Given the description of an element on the screen output the (x, y) to click on. 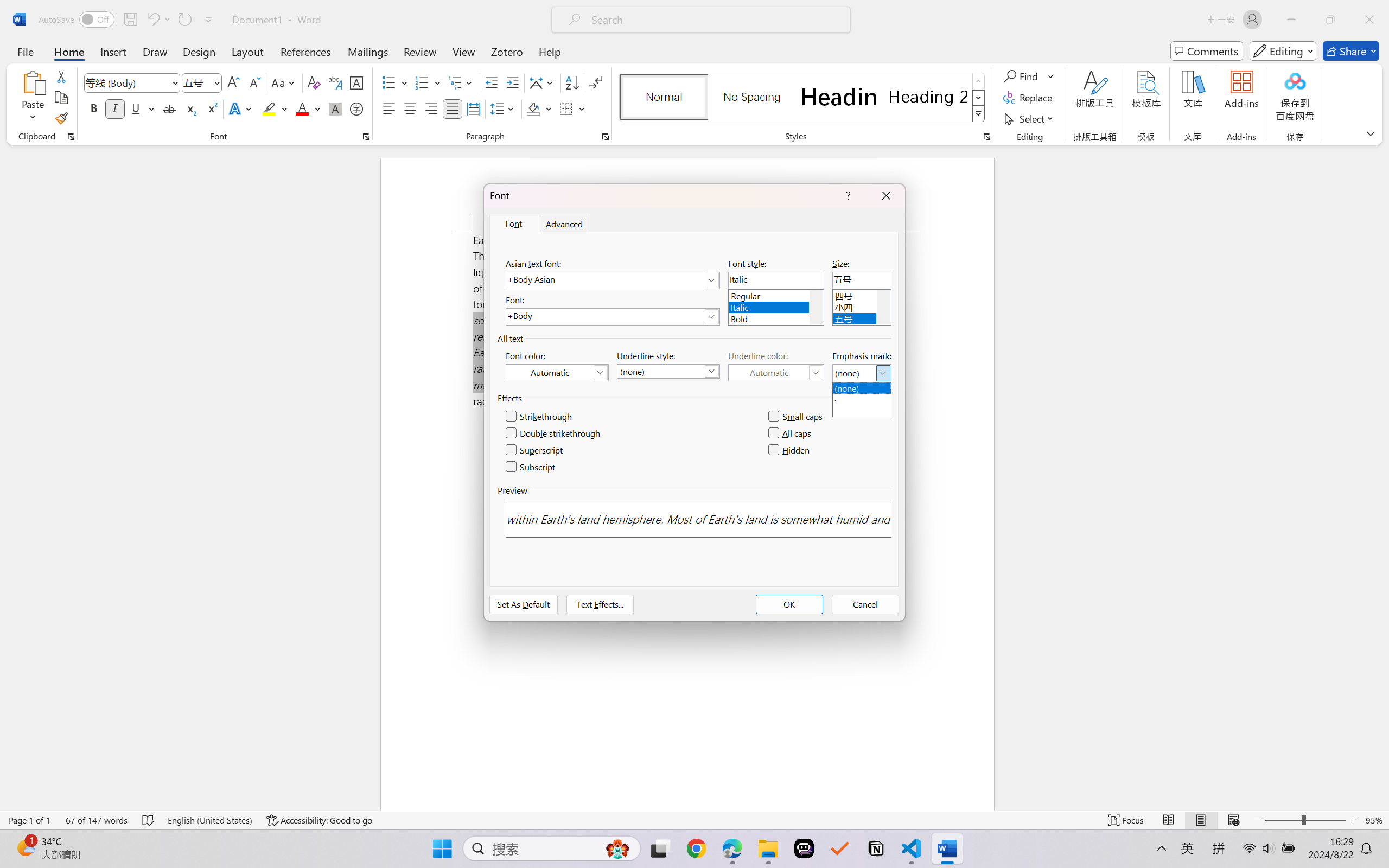
AutomationID: 1797 (883, 306)
Shading RGB(0, 0, 0) (533, 108)
Class: NetUIScrollBar (1382, 477)
Text Highlight Color (274, 108)
Justify (452, 108)
Decrease Indent (491, 82)
(none) (861, 387)
